Given the description of an element on the screen output the (x, y) to click on. 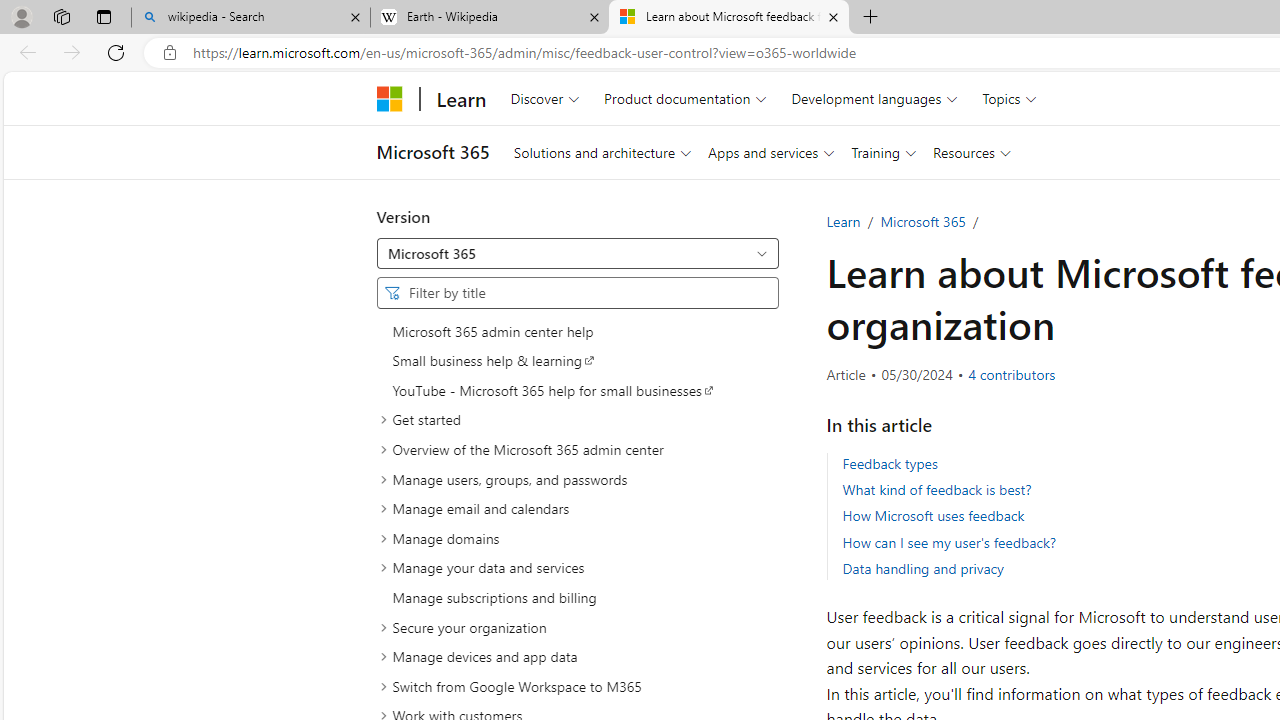
Discover (544, 98)
Personal Profile (21, 16)
Resources (972, 152)
How can I see my user's feedback? (949, 542)
Data handling and privacy (922, 568)
Workspaces (61, 16)
Resources (972, 152)
Microsoft 365 (577, 253)
Discover (544, 98)
Skip to main content (18, 86)
Product documentation (685, 98)
Product documentation (685, 98)
Topics (1009, 98)
